Given the description of an element on the screen output the (x, y) to click on. 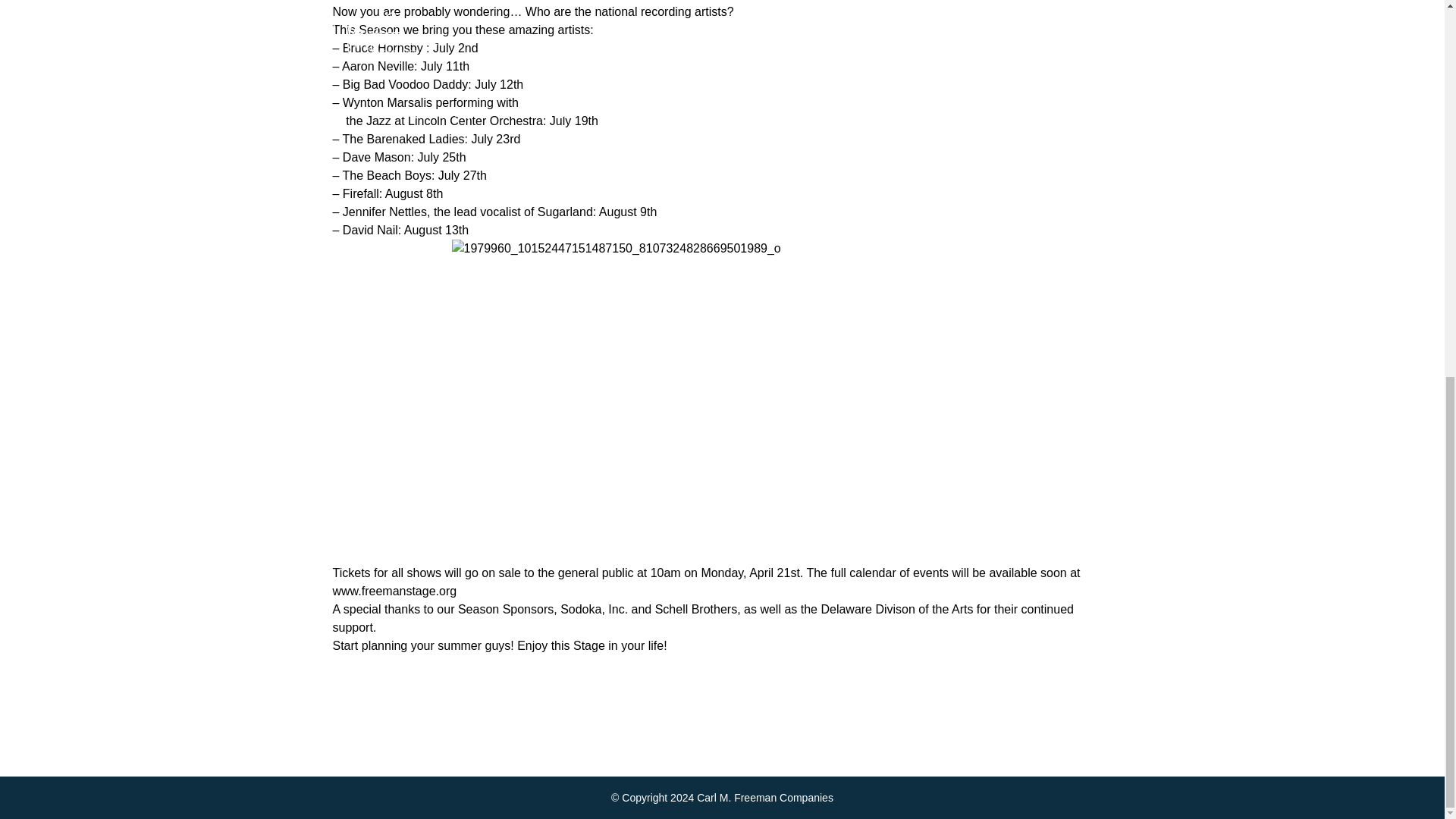
www.freemanstage.org (394, 590)
